Given the description of an element on the screen output the (x, y) to click on. 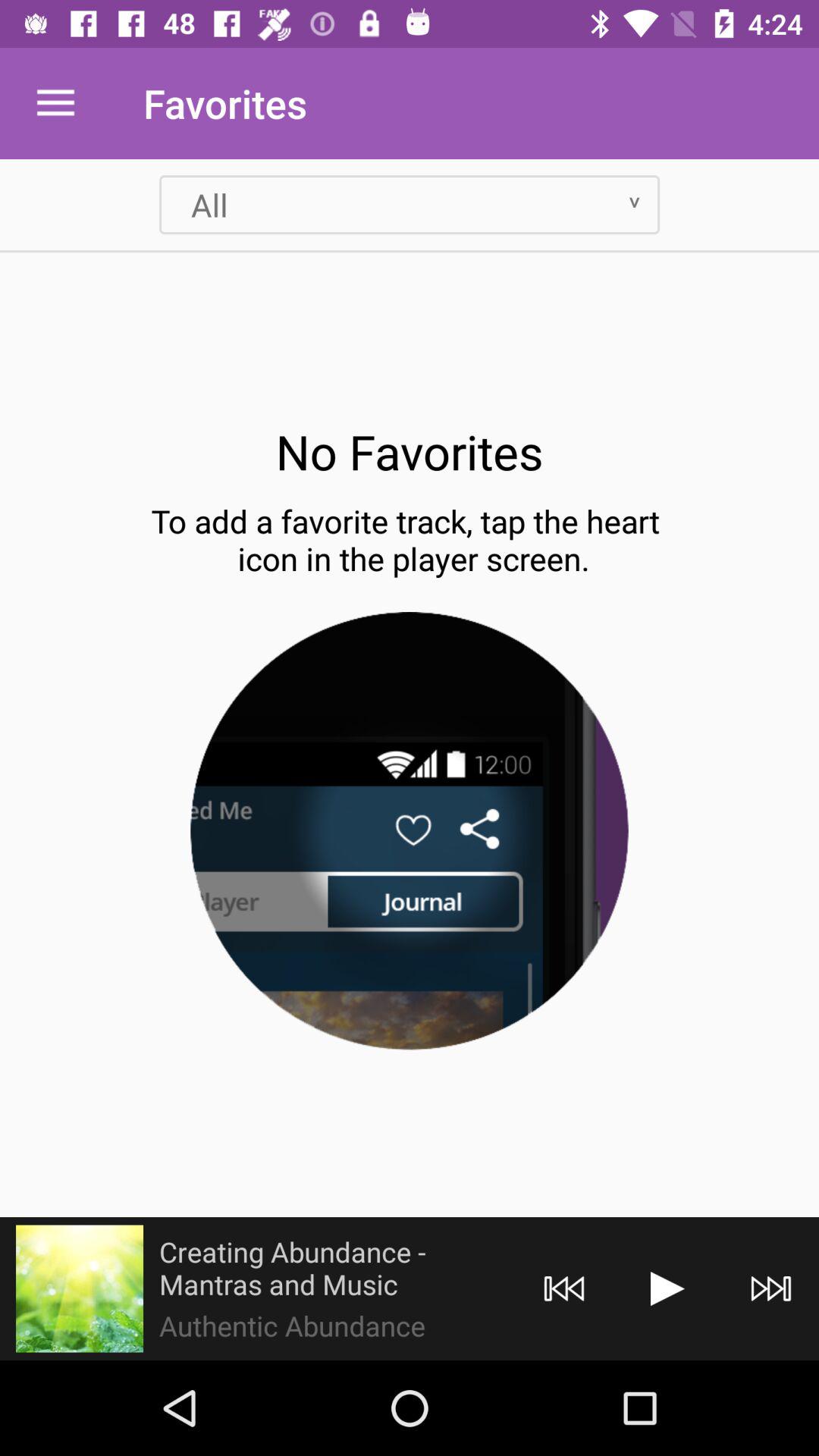
turn off the item next to favorites icon (55, 103)
